Given the description of an element on the screen output the (x, y) to click on. 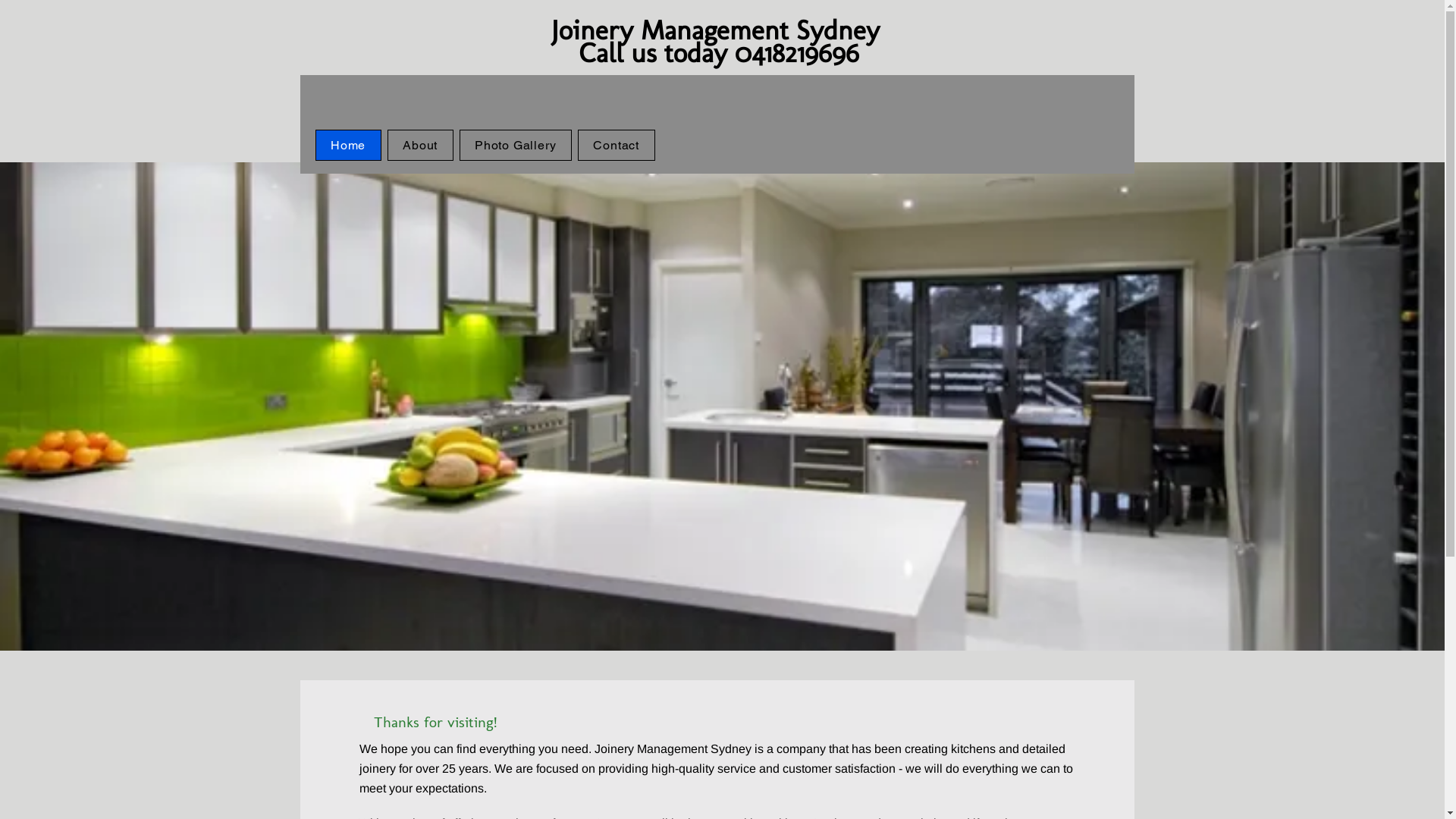
Photo Gallery Element type: text (515, 144)
Home Element type: text (348, 144)
About Element type: text (420, 144)
Contact Element type: text (616, 144)
